Given the description of an element on the screen output the (x, y) to click on. 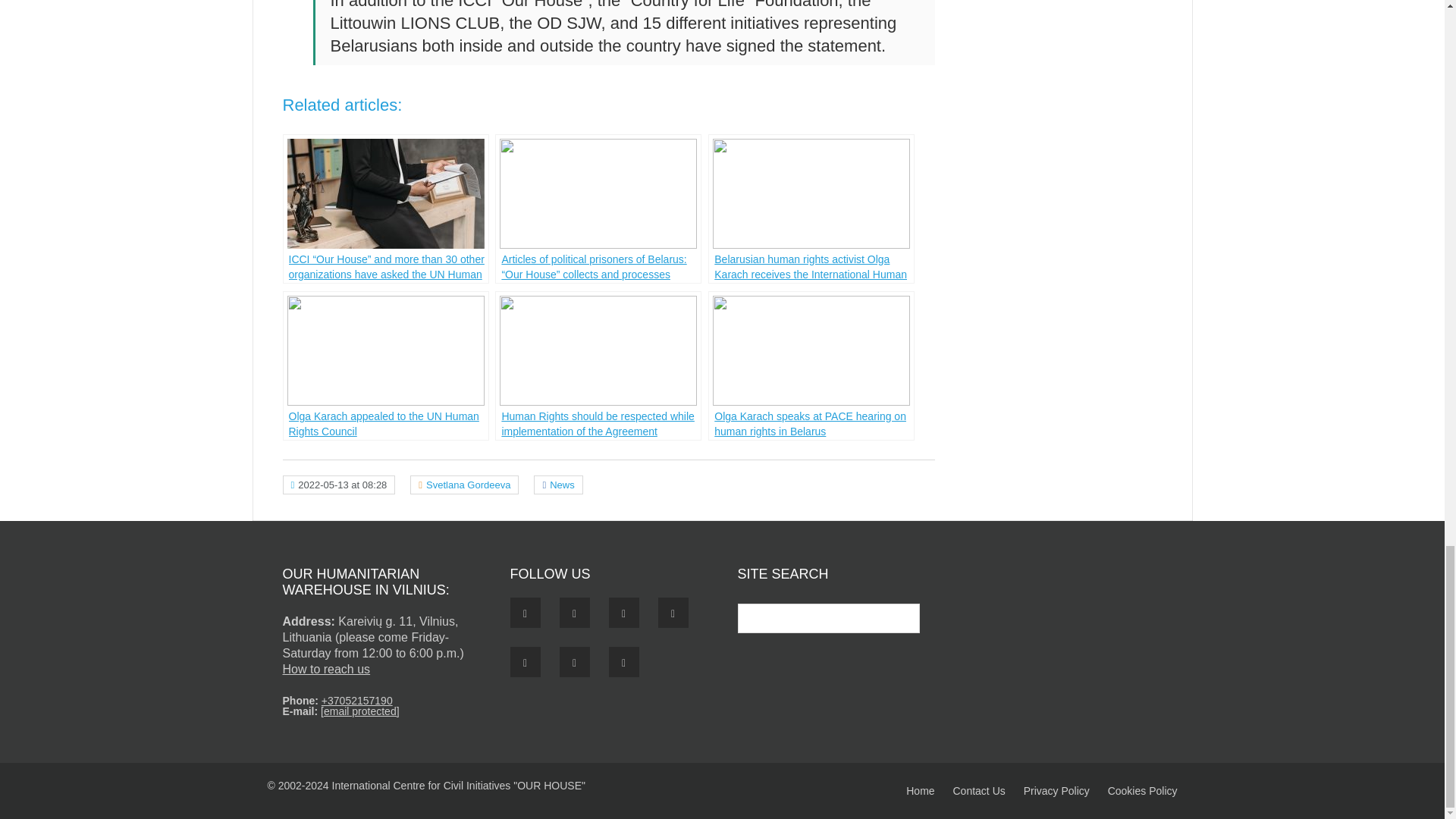
Olga Karach appealed to the UN Human Rights Council (384, 365)
